Given the description of an element on the screen output the (x, y) to click on. 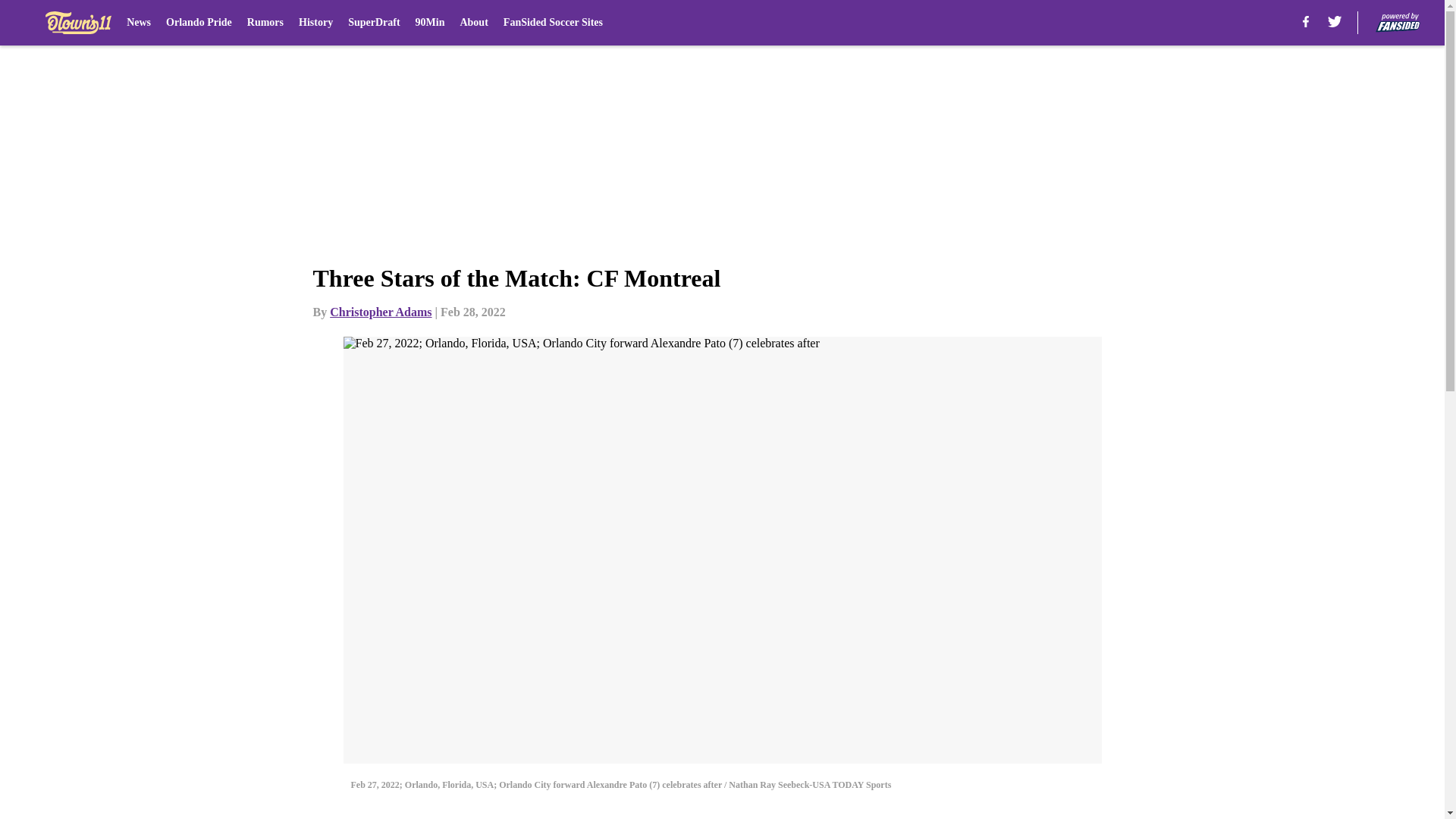
News (138, 22)
SuperDraft (372, 22)
Christopher Adams (380, 311)
Orlando Pride (198, 22)
FanSided Soccer Sites (552, 22)
90Min (429, 22)
About (473, 22)
Rumors (265, 22)
History (315, 22)
